Given the description of an element on the screen output the (x, y) to click on. 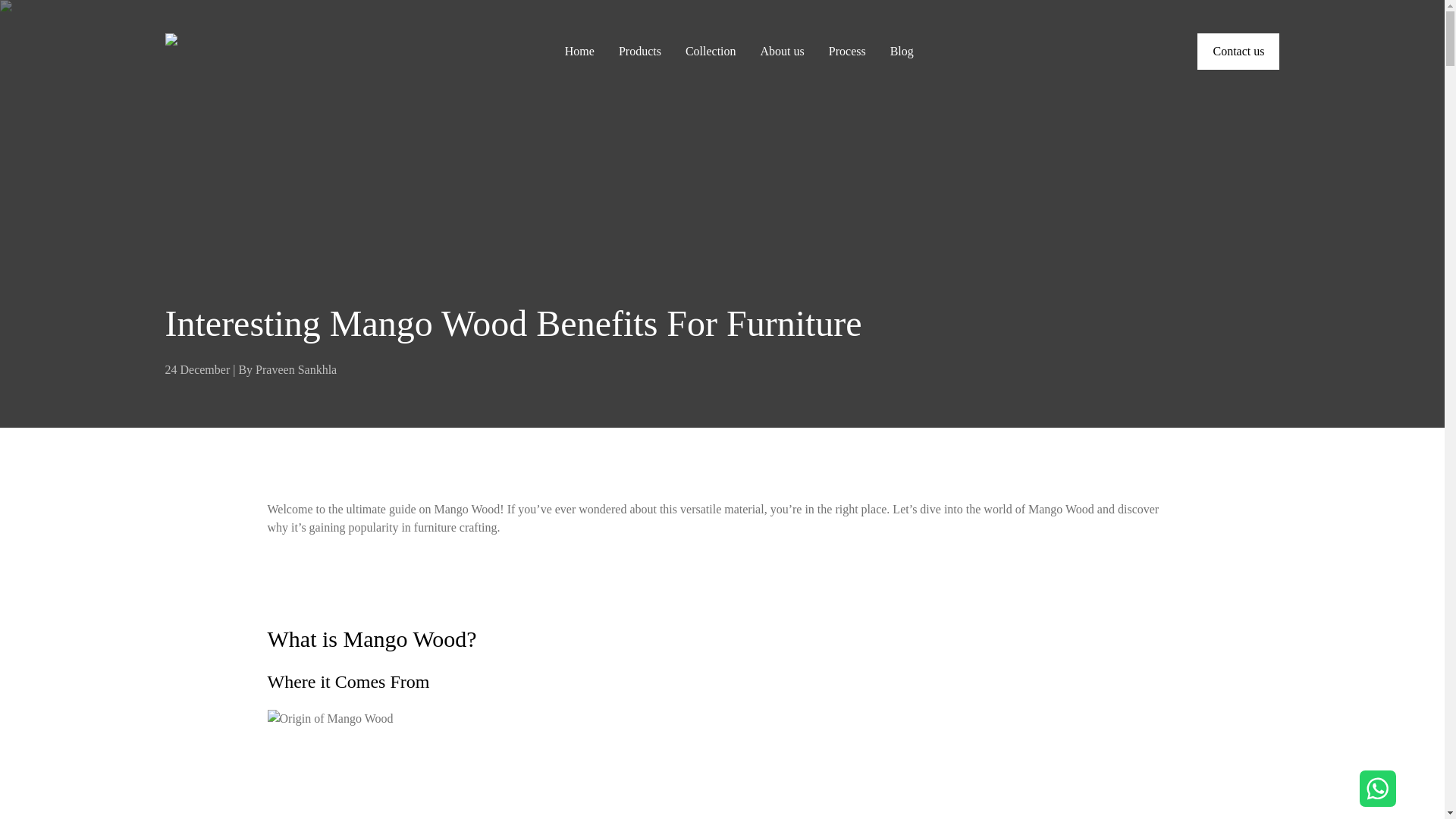
About us (782, 51)
Products (639, 51)
Products (639, 51)
Process (847, 51)
Collection (710, 51)
Home (223, 51)
Contact us (1237, 51)
Process (847, 51)
Contact us (1237, 51)
Collection (710, 51)
About us (782, 51)
Home (579, 51)
Home (579, 51)
